Given the description of an element on the screen output the (x, y) to click on. 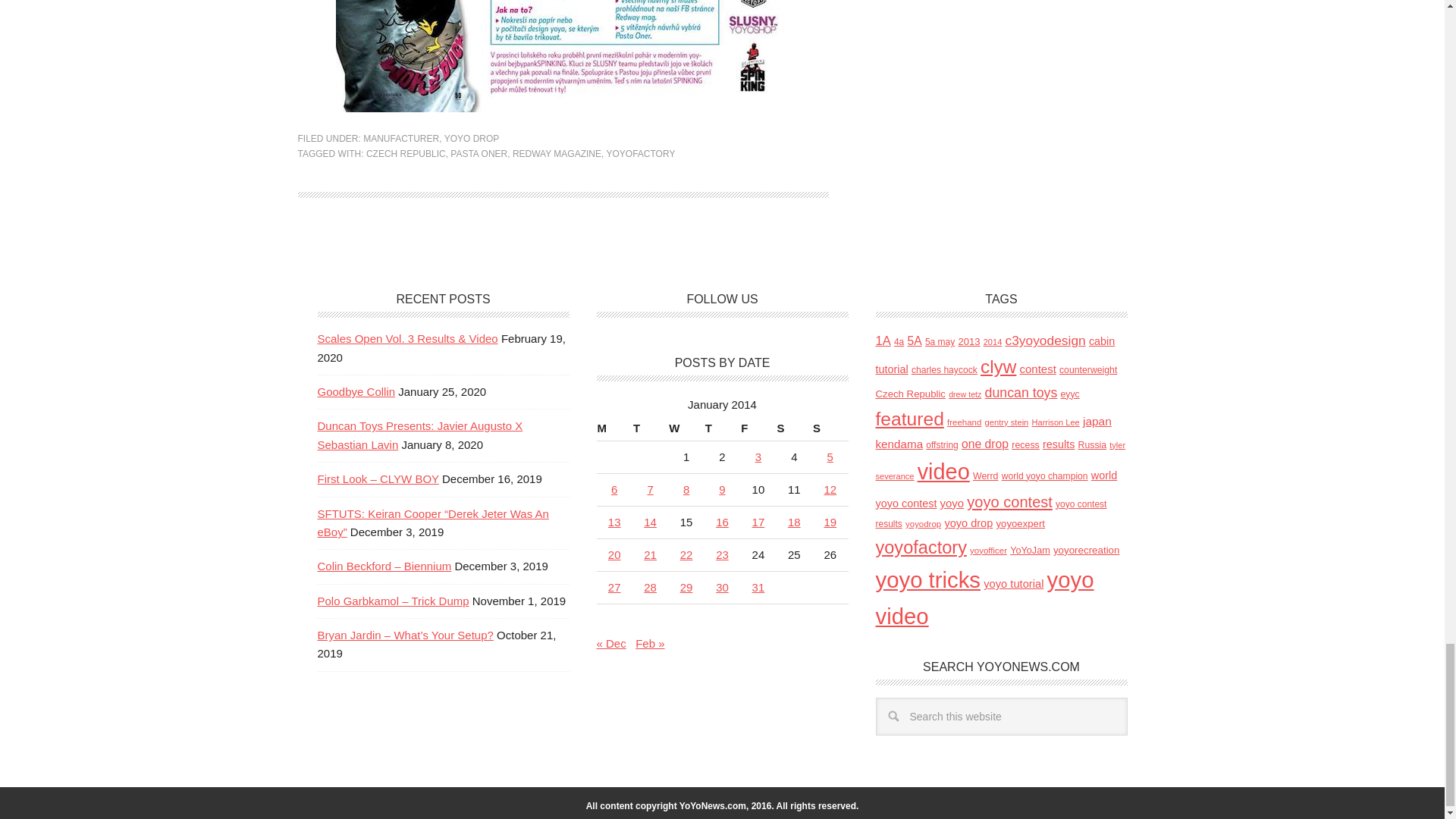
Friday (757, 428)
Tuesday (649, 428)
Thursday (721, 428)
Monday (613, 428)
Wednesday (685, 428)
